Given the description of an element on the screen output the (x, y) to click on. 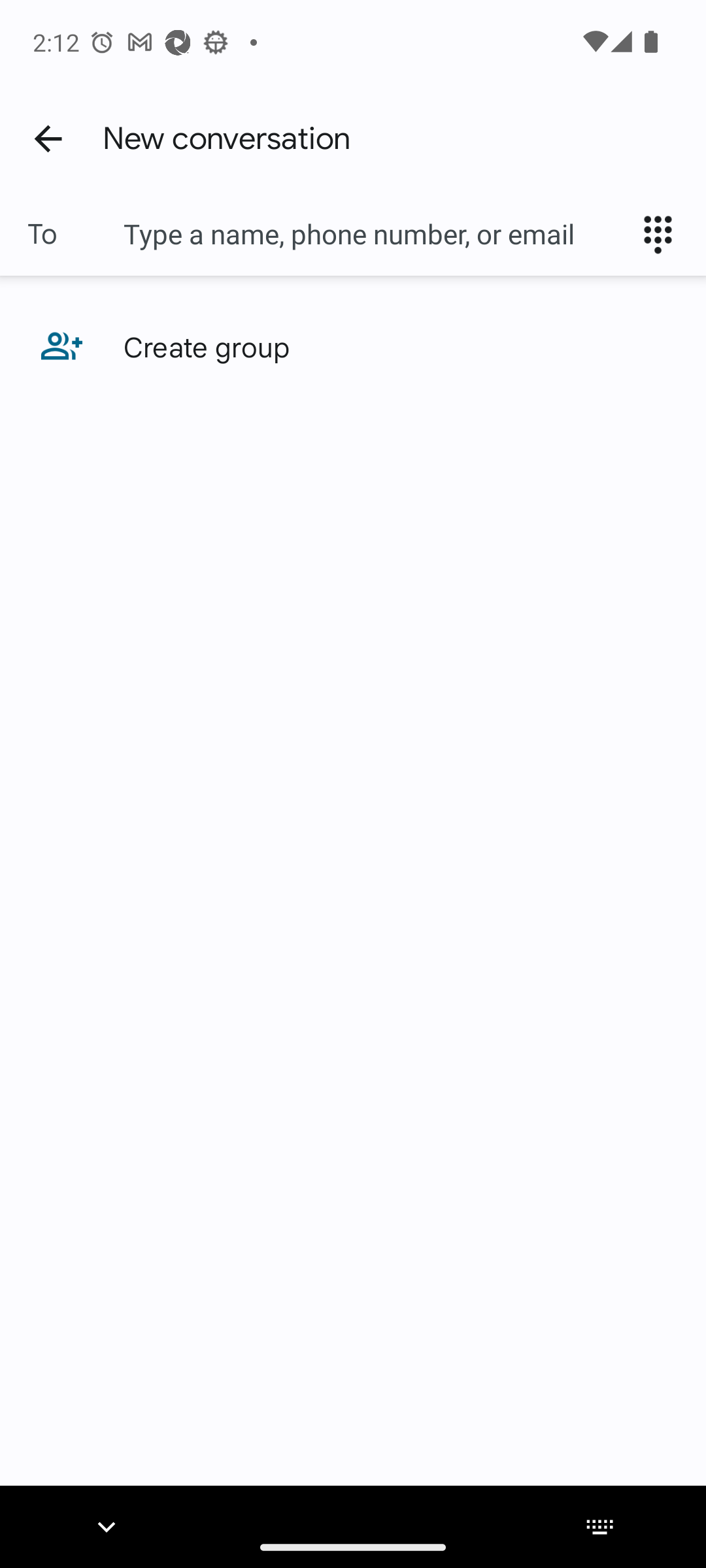
Navigate up (48, 137)
Type a name, phone number, or email (373, 233)
Switch between entering text and numbers (664, 233)
Create group (353, 346)
